Given the description of an element on the screen output the (x, y) to click on. 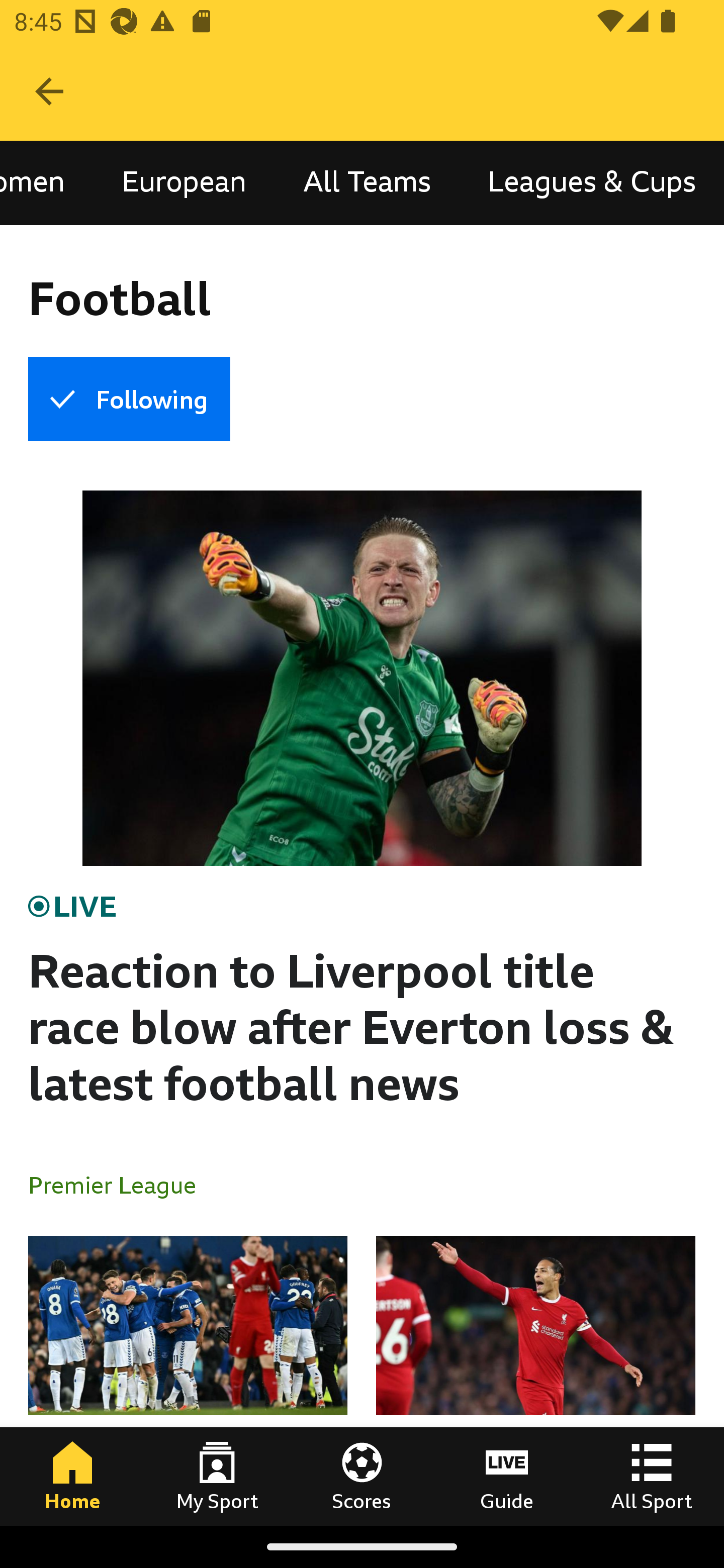
Navigate up (49, 91)
European (184, 183)
All Teams (367, 183)
Leagues & Cups (591, 183)
Following Football Following (129, 398)
Premier League In the section Premier League (119, 1184)
Van Dijk questions desire of team-mates after loss (535, 1380)
My Sport (216, 1475)
Scores (361, 1475)
Guide (506, 1475)
All Sport (651, 1475)
